Given the description of an element on the screen output the (x, y) to click on. 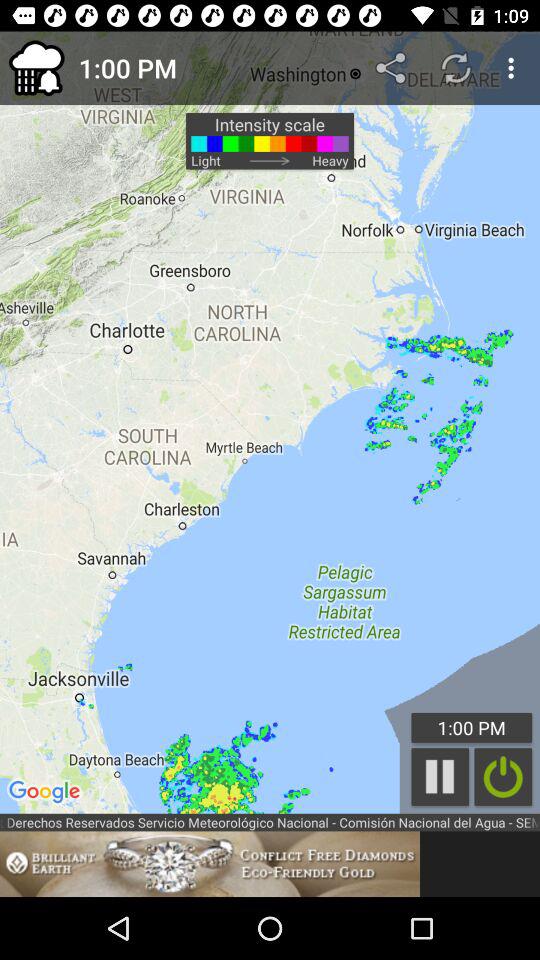
power button (503, 776)
